Given the description of an element on the screen output the (x, y) to click on. 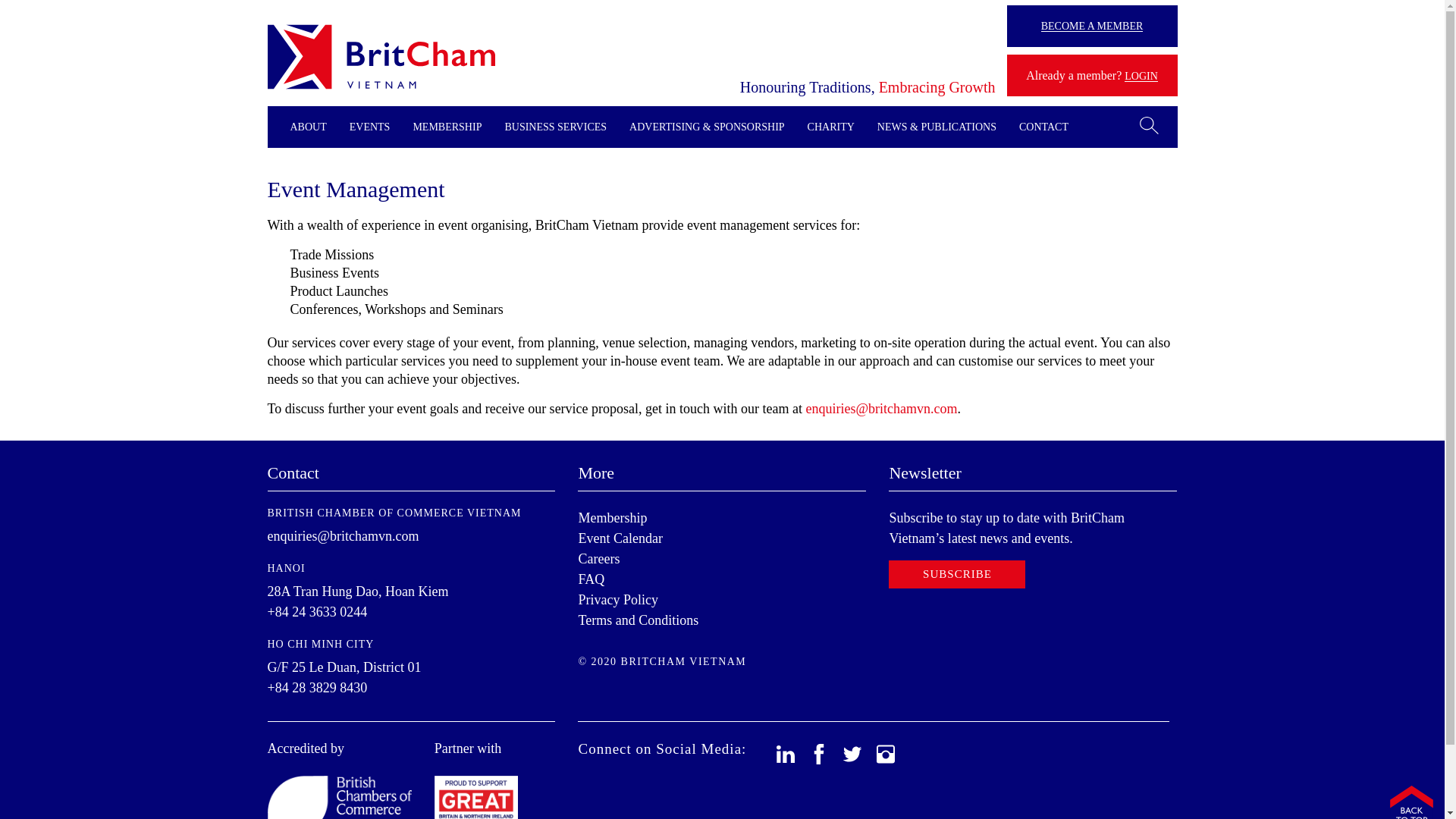
Event Calendar (620, 538)
BECOME A MEMBER (1091, 25)
Membership (612, 517)
BUSINESS SERVICES (555, 127)
EVENTS (369, 127)
Privacy Policy (618, 599)
LOGIN (1140, 75)
MEMBERSHIP (447, 127)
FAQ (591, 579)
CHARITY (831, 127)
ABOUT (308, 127)
Careers (599, 558)
CONTACT (1043, 127)
